Given the description of an element on the screen output the (x, y) to click on. 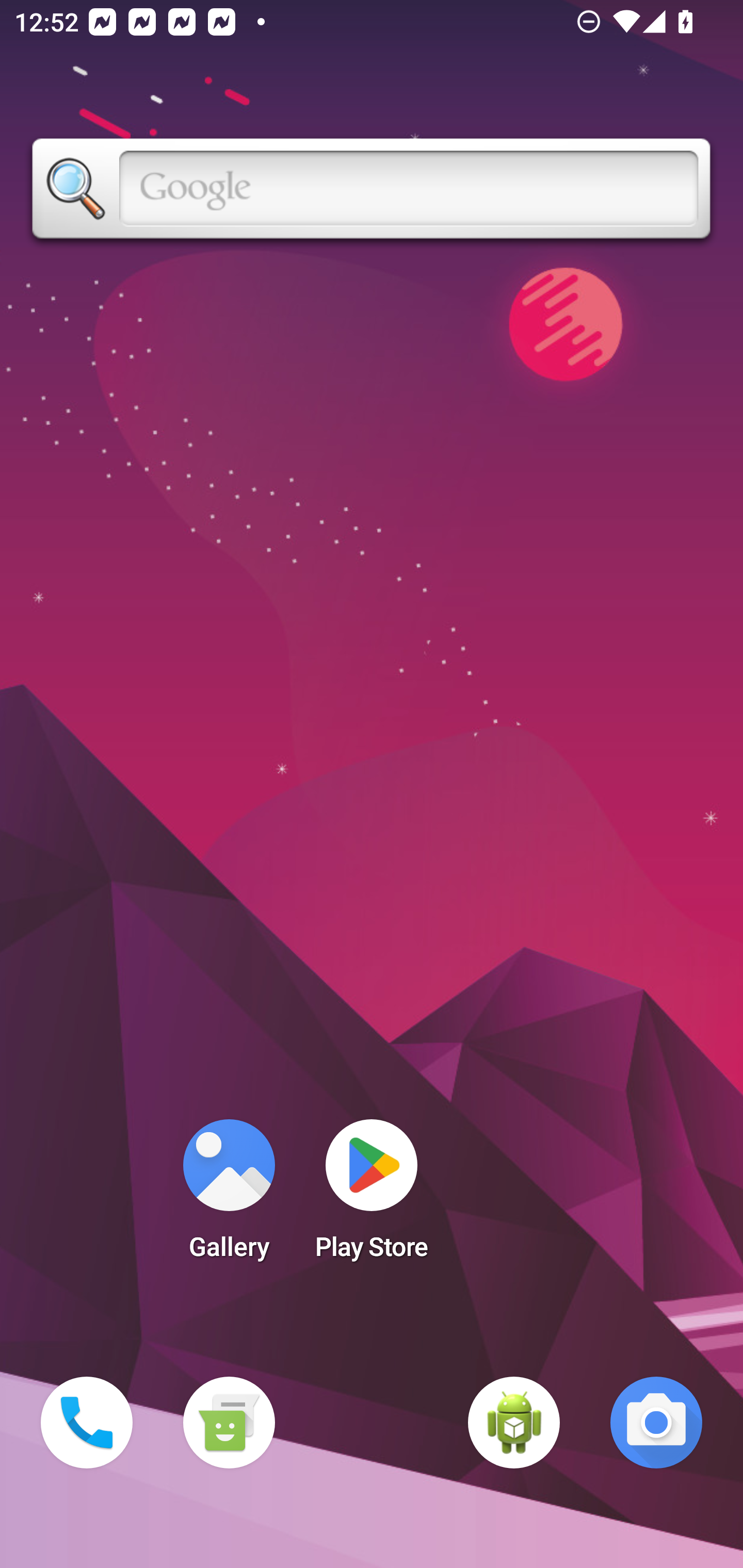
Gallery (228, 1195)
Play Store (371, 1195)
Phone (86, 1422)
Messaging (228, 1422)
WebView Browser Tester (513, 1422)
Camera (656, 1422)
